Given the description of an element on the screen output the (x, y) to click on. 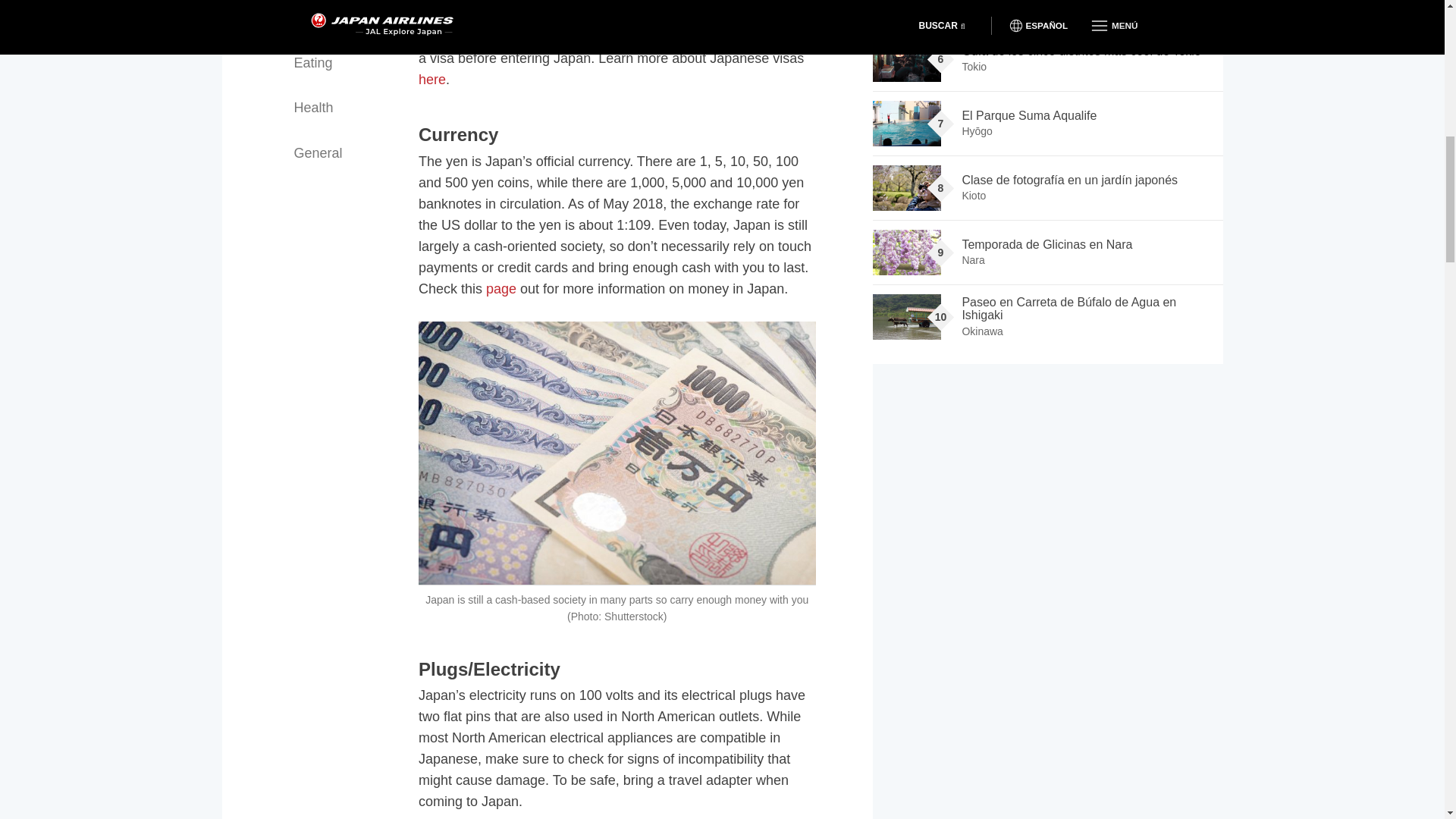
Temporada de Glicinas en Nara (906, 252)
La calle de la guitarra en Ochanomizu (906, 8)
El Parque Suma Aqualife (906, 123)
